Given the description of an element on the screen output the (x, y) to click on. 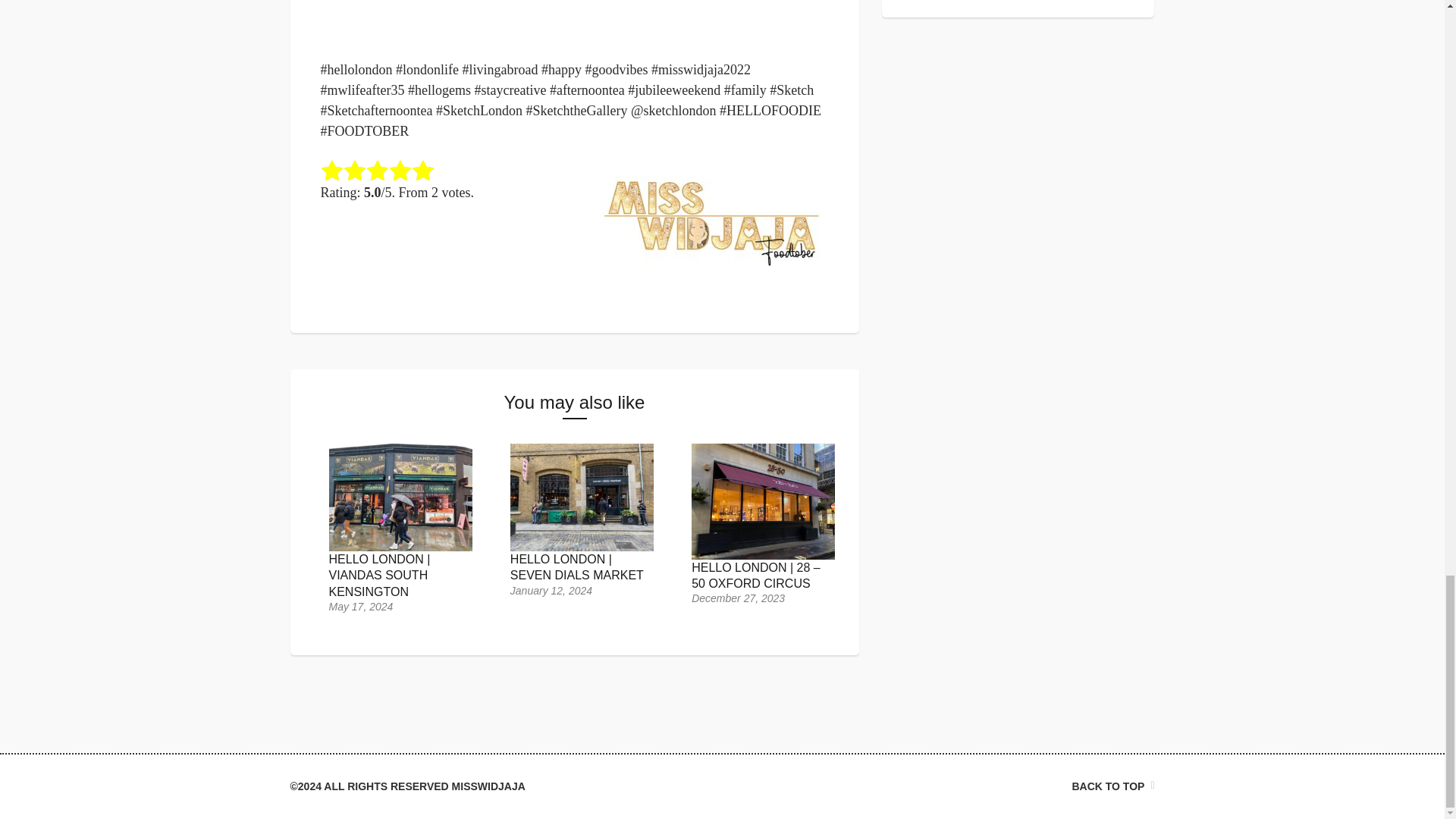
January 12, 2024 (551, 590)
May 17, 2024 (361, 606)
December 27, 2023 (737, 598)
